Given the description of an element on the screen output the (x, y) to click on. 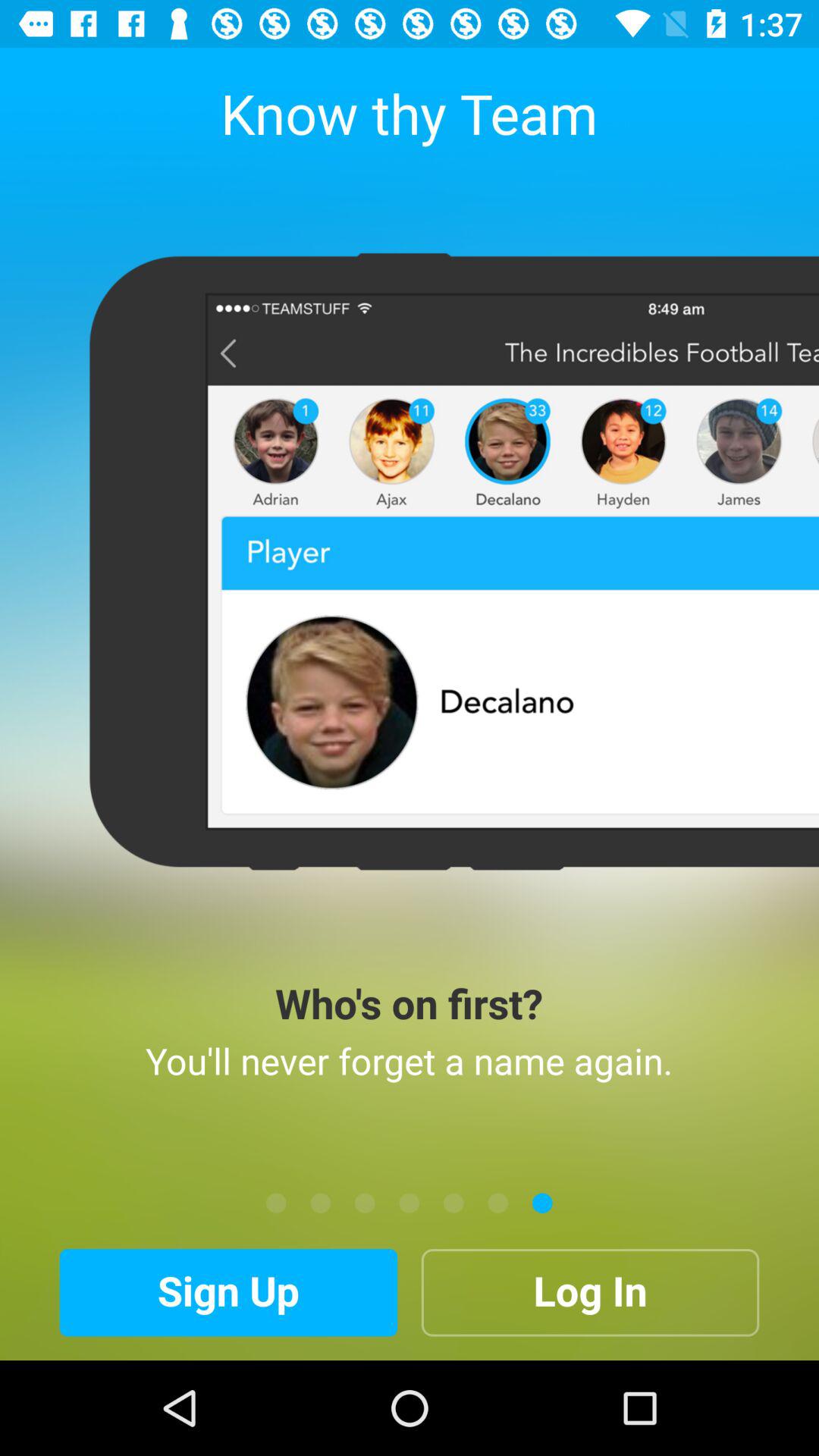
turn off icon at the bottom left corner (228, 1292)
